Given the description of an element on the screen output the (x, y) to click on. 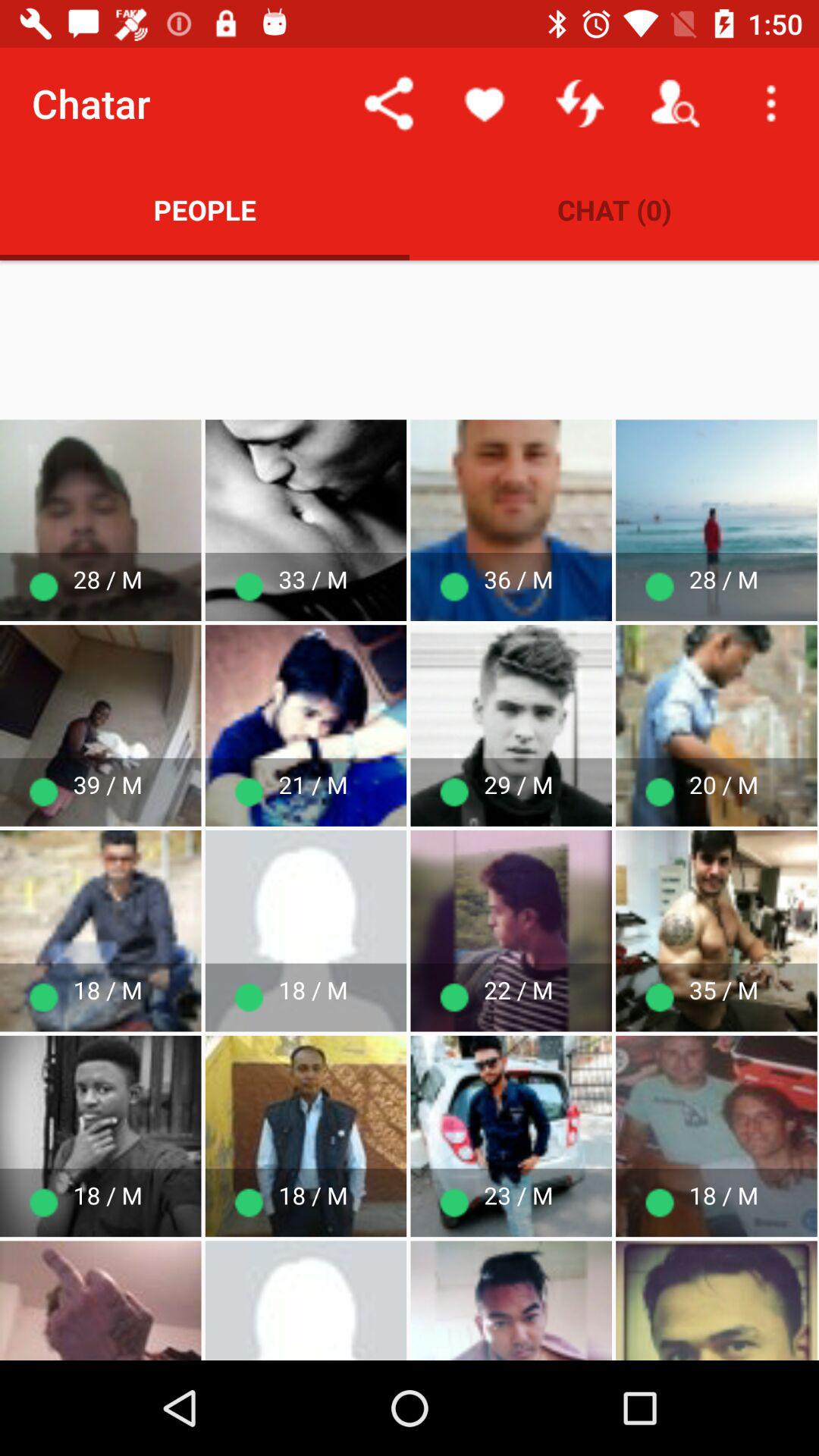
open item above the chat (0) app (771, 103)
